Given the description of an element on the screen output the (x, y) to click on. 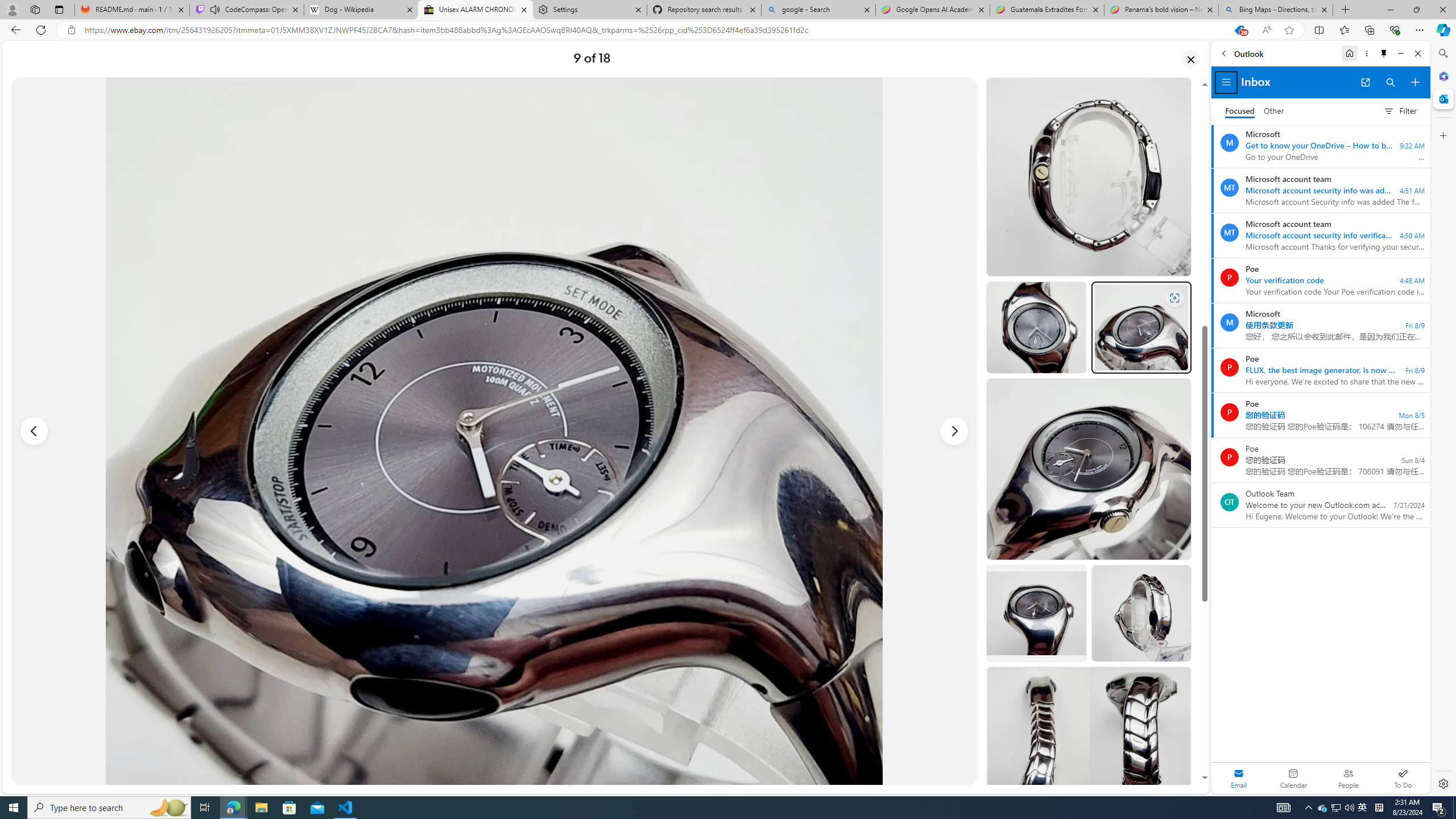
To Do (1402, 777)
Copilot (Ctrl+Shift+.) (1442, 29)
Selected mail module (1238, 777)
Workspaces (34, 9)
Tab actions menu (58, 9)
Search (1442, 53)
People (1347, 777)
Focused (1239, 110)
Restore (1416, 9)
